Given the description of an element on the screen output the (x, y) to click on. 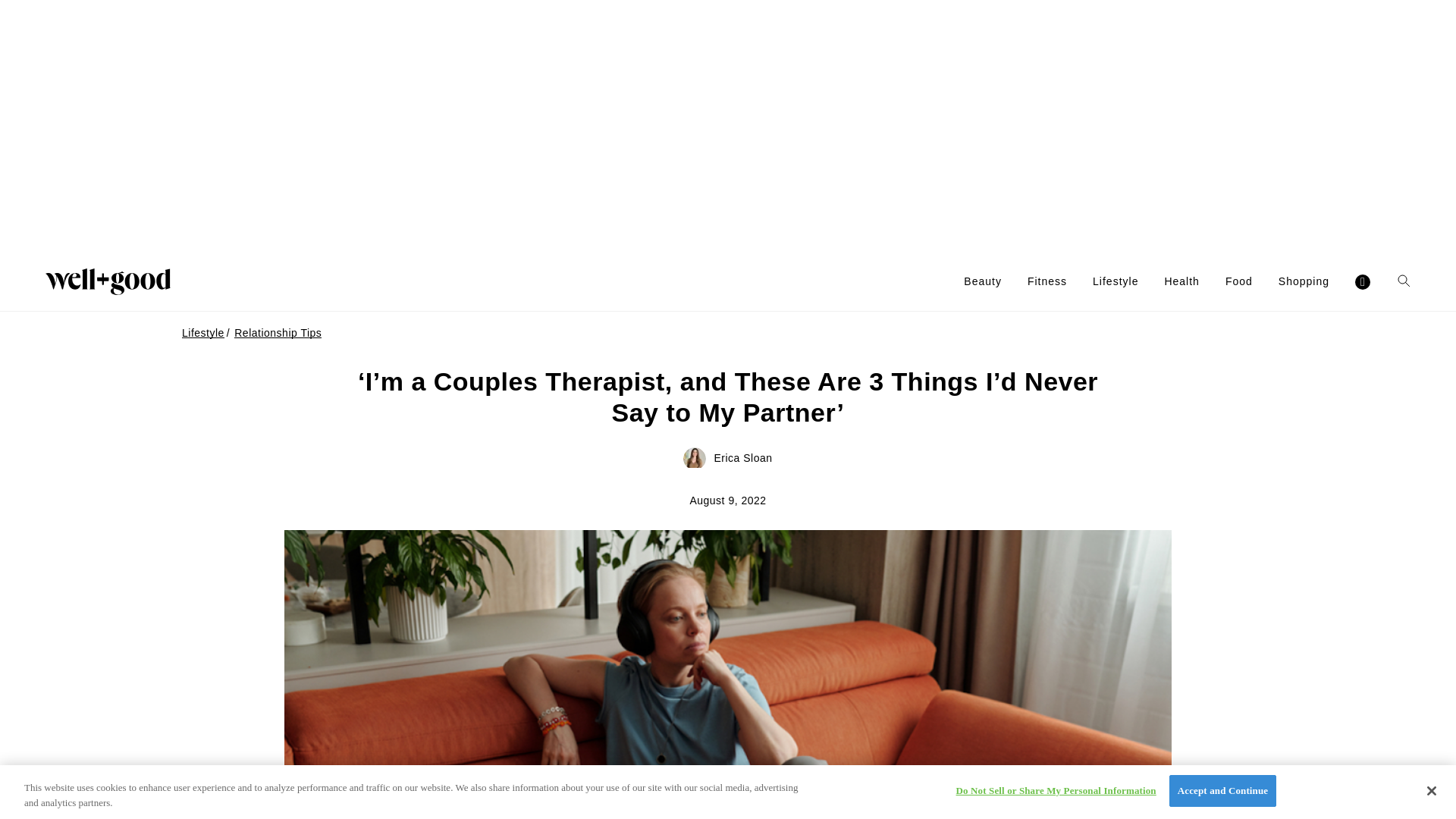
3rd party ad content (727, 126)
Beauty (982, 281)
Shopping (1303, 281)
Health (1180, 281)
Food (1238, 281)
Lifestyle (1115, 281)
Fitness (1047, 281)
